Given the description of an element on the screen output the (x, y) to click on. 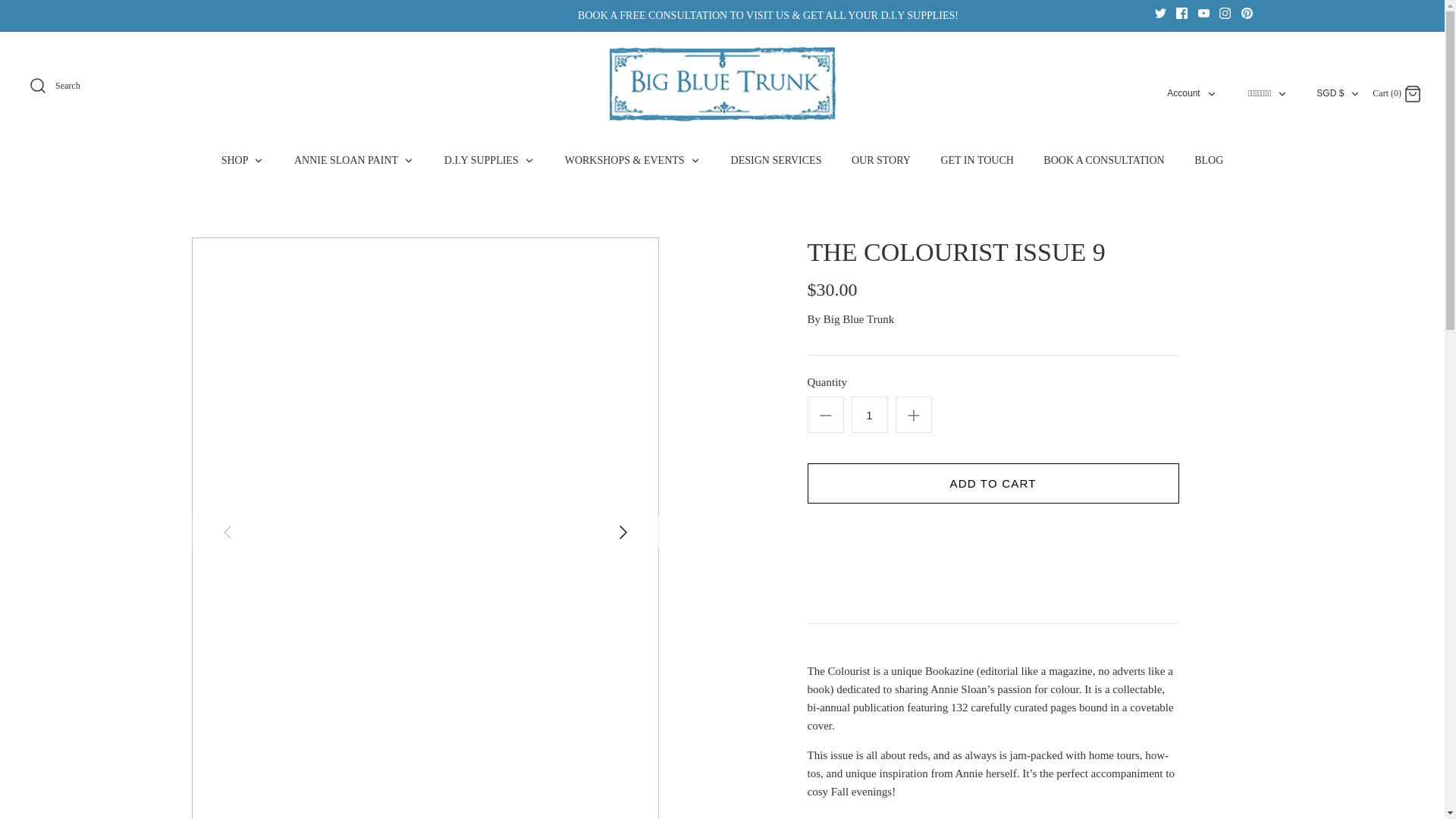
Toggle menu (258, 160)
Add to Cart (991, 483)
LEFT (227, 532)
1 (868, 414)
Minus (824, 415)
Toggle menu (408, 160)
FACEBOOK (1183, 93)
PINTEREST (1182, 12)
Toggle menu (1246, 12)
Down (695, 160)
Down (1354, 93)
Down (1281, 93)
YOUTUBE (1212, 93)
Plus (1203, 12)
